Given the description of an element on the screen output the (x, y) to click on. 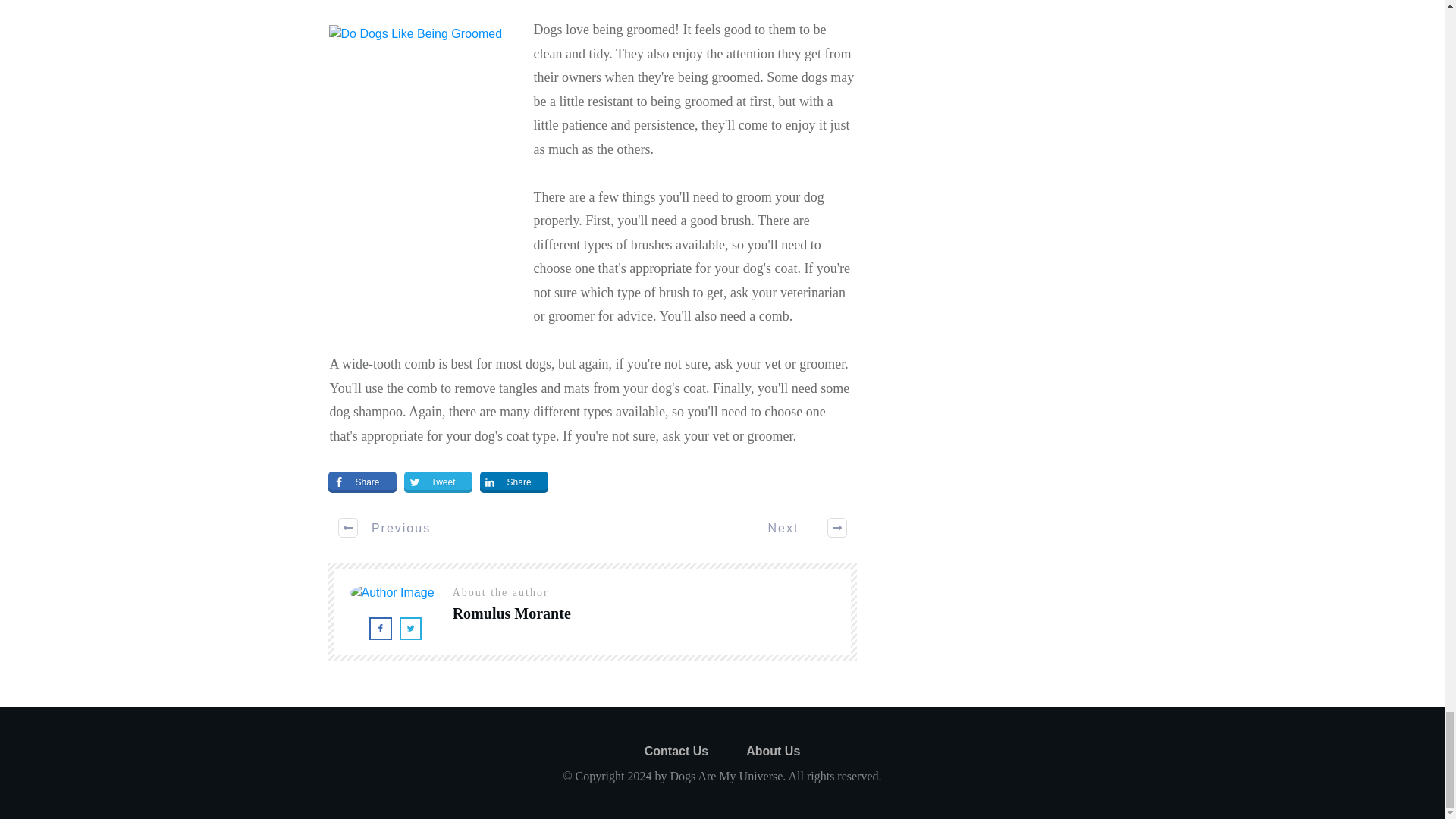
Share (514, 482)
Previous (385, 527)
Tweet (437, 482)
Share (361, 482)
Next (798, 527)
